Given the description of an element on the screen output the (x, y) to click on. 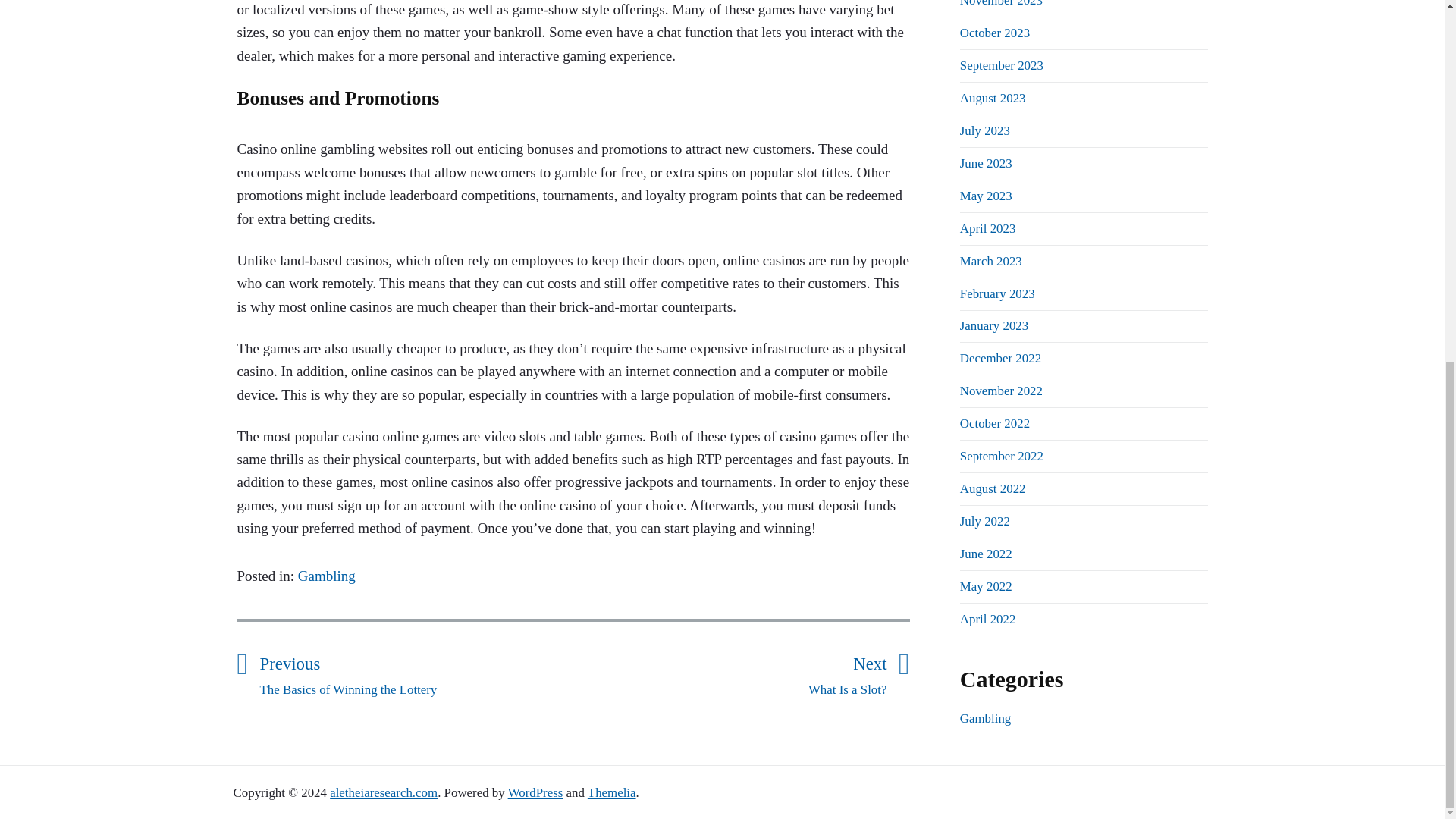
March 2023 (990, 260)
January 2023 (993, 325)
October 2023 (994, 32)
December 2022 (729, 672)
November 2022 (1000, 358)
October 2022 (1000, 391)
November 2023 (994, 423)
April 2023 (1000, 3)
May 2023 (987, 228)
